Given the description of an element on the screen output the (x, y) to click on. 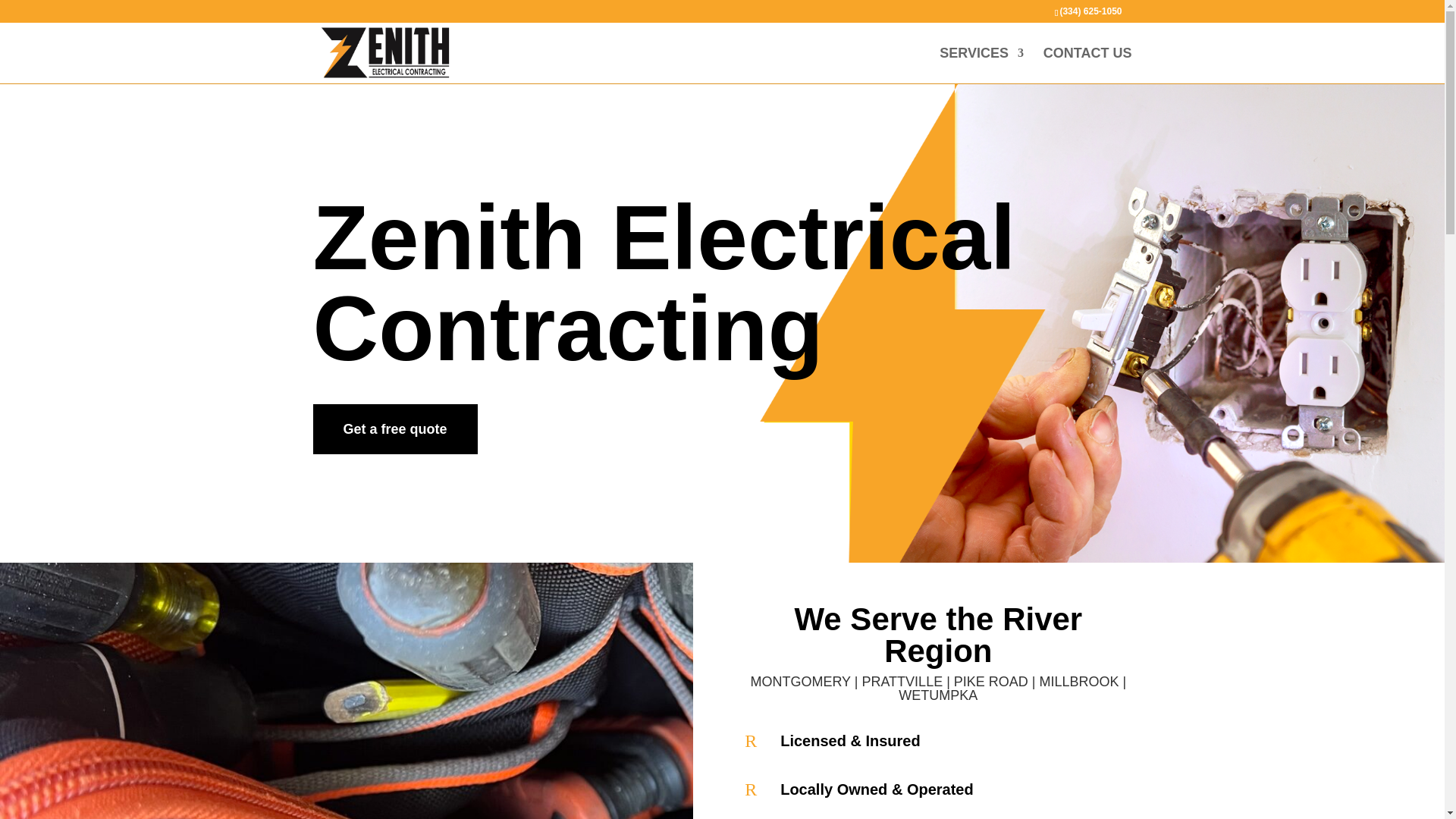
SERVICES (981, 65)
Get a free quote (395, 429)
CONTACT US (1087, 65)
